Given the description of an element on the screen output the (x, y) to click on. 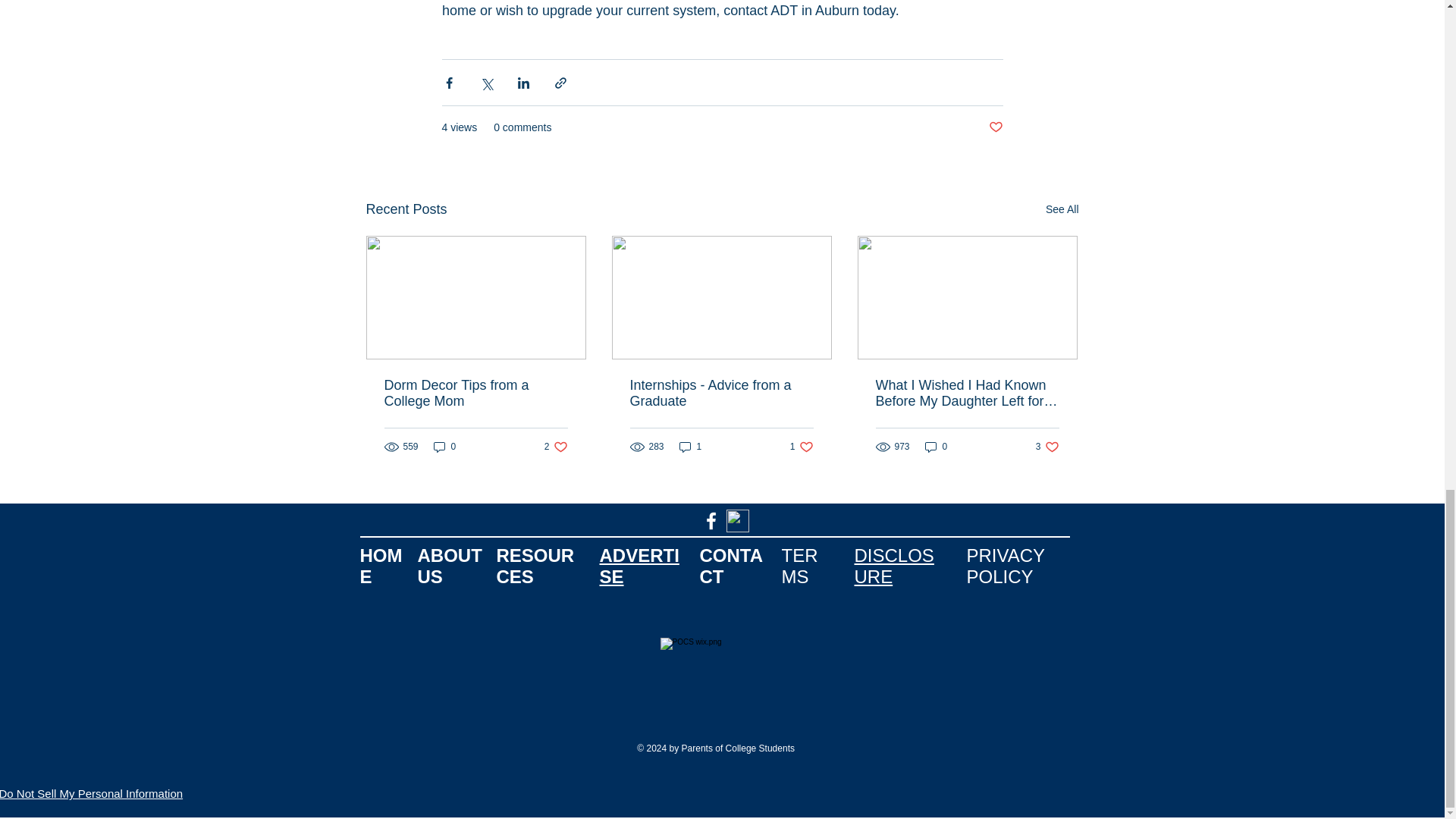
Post not marked as liked (995, 127)
